Given the description of an element on the screen output the (x, y) to click on. 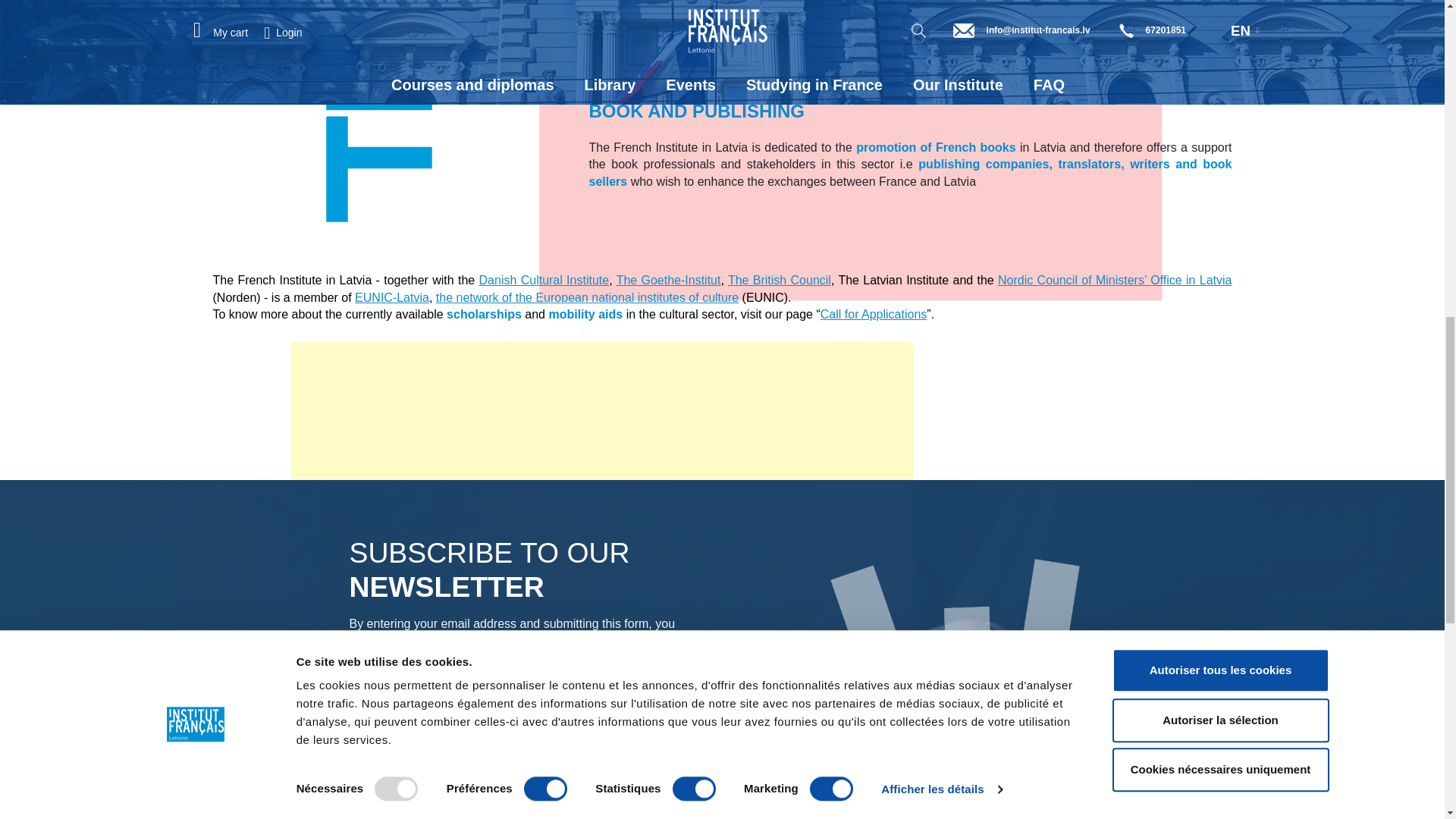
1 (353, 760)
Subscribe (396, 818)
